Given the description of an element on the screen output the (x, y) to click on. 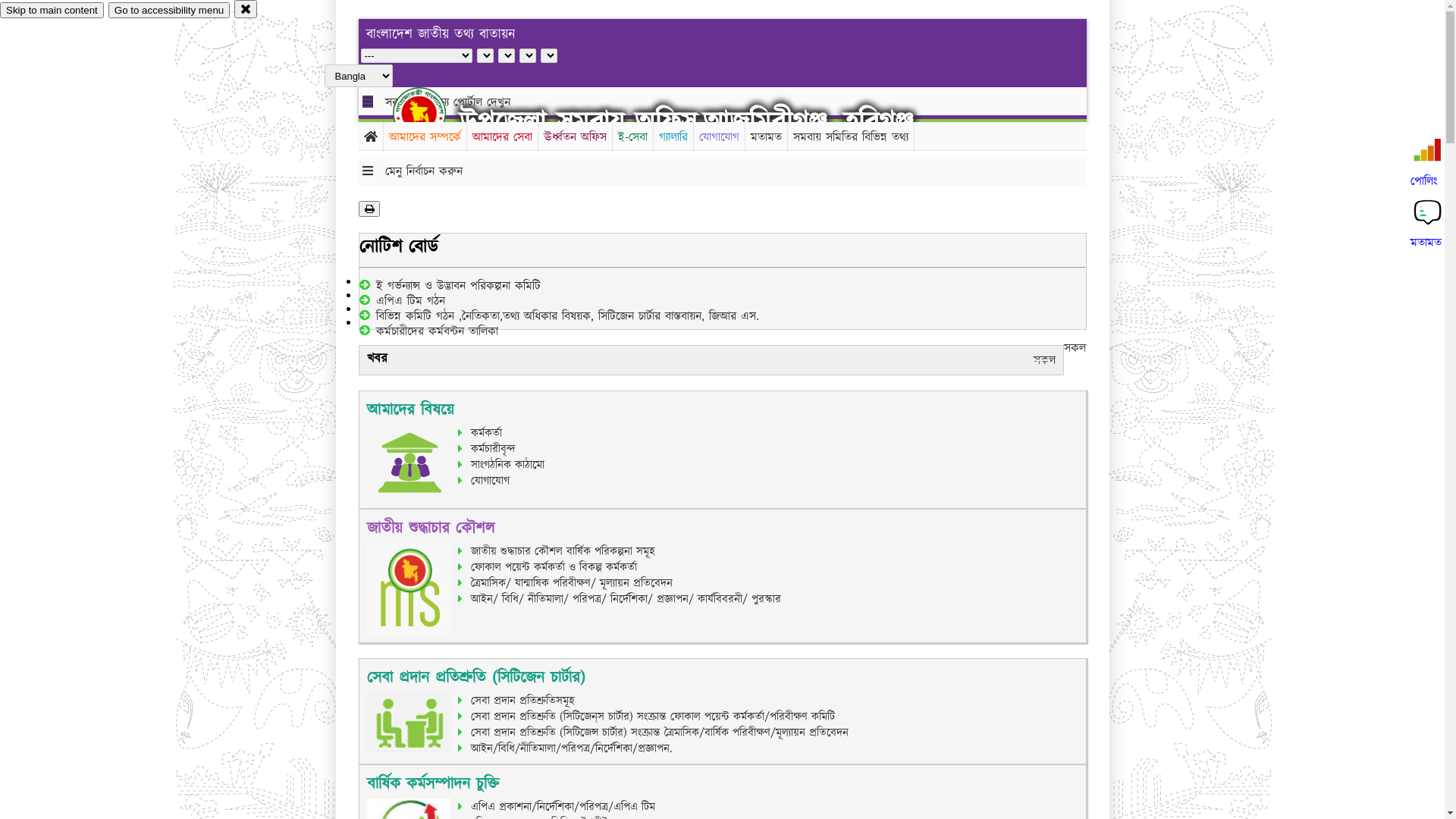
close Element type: hover (245, 9)
Skip to main content Element type: text (51, 10)
Go to accessibility menu Element type: text (168, 10)

                
             Element type: hover (431, 112)
